Given the description of an element on the screen output the (x, y) to click on. 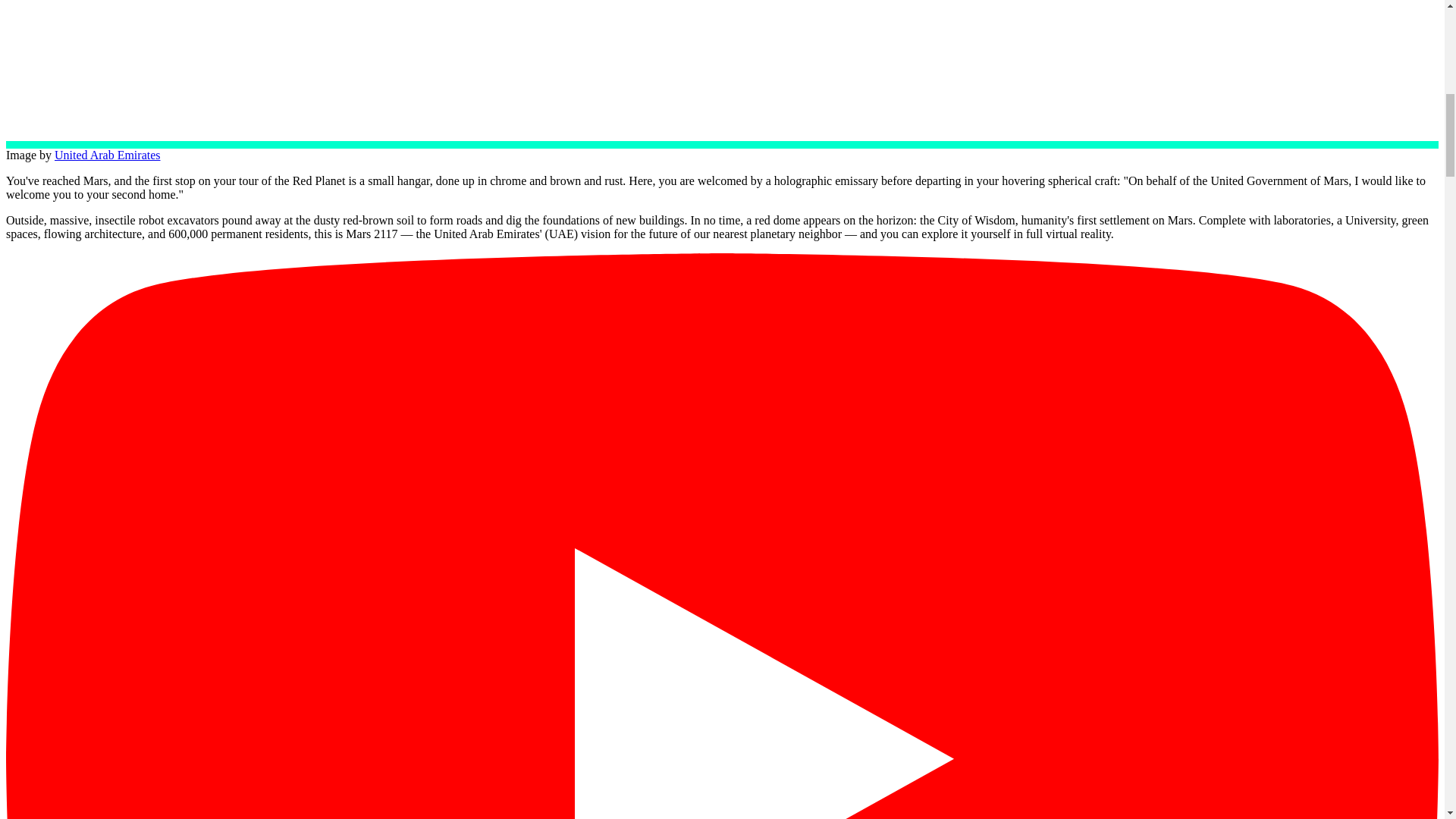
United Arab Emirates (394, 68)
United Arab Emirates (107, 154)
United Arab Emirates (107, 154)
